Given the description of an element on the screen output the (x, y) to click on. 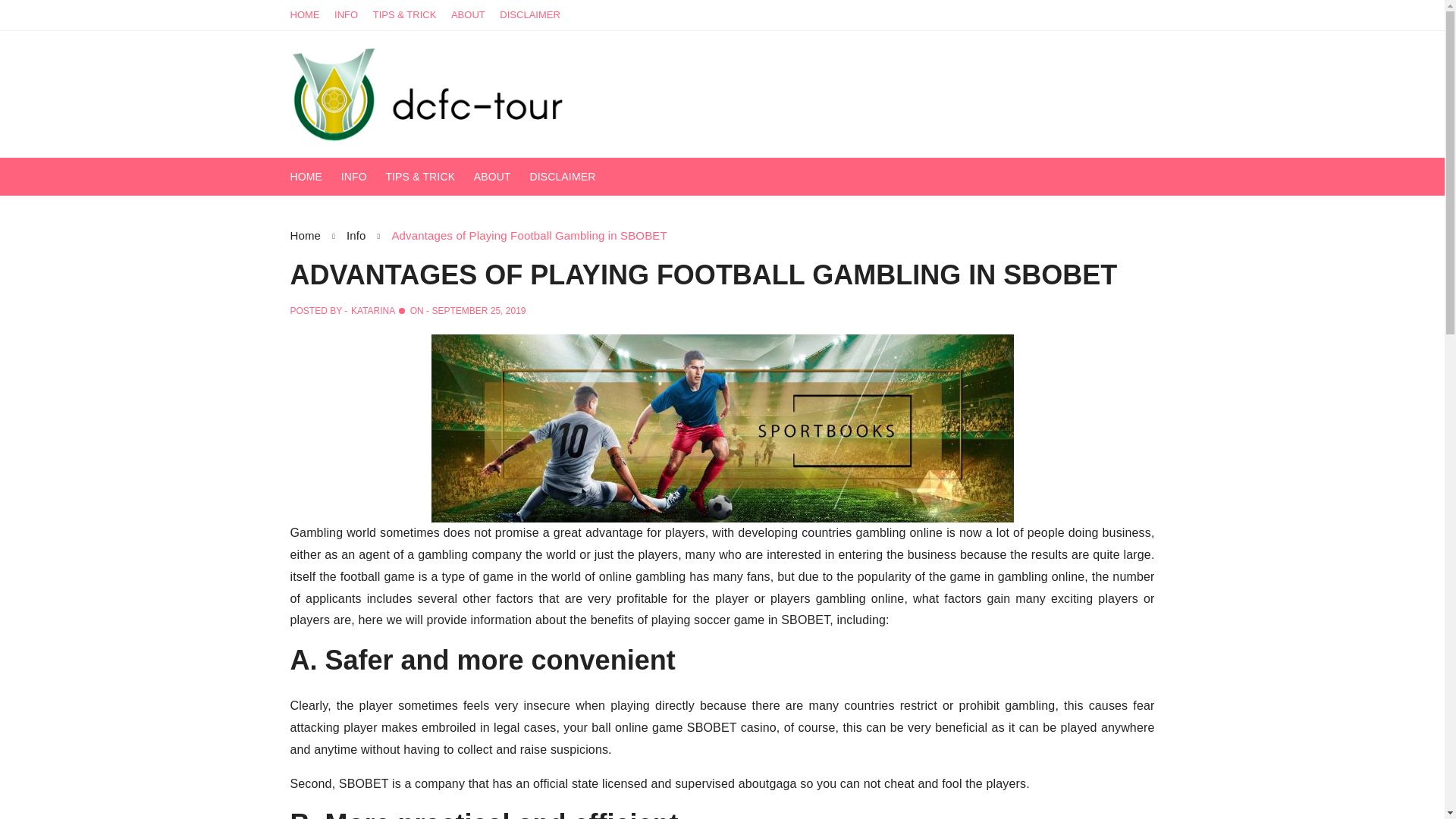
INFO (360, 176)
SEPTEMBER 25, 2019 (477, 310)
Info (368, 235)
INFO (351, 15)
ABOUT (499, 176)
DISCLAIMER (569, 176)
KATARINA (372, 310)
Home (317, 235)
HOME (309, 15)
HOME (313, 176)
